Given the description of an element on the screen output the (x, y) to click on. 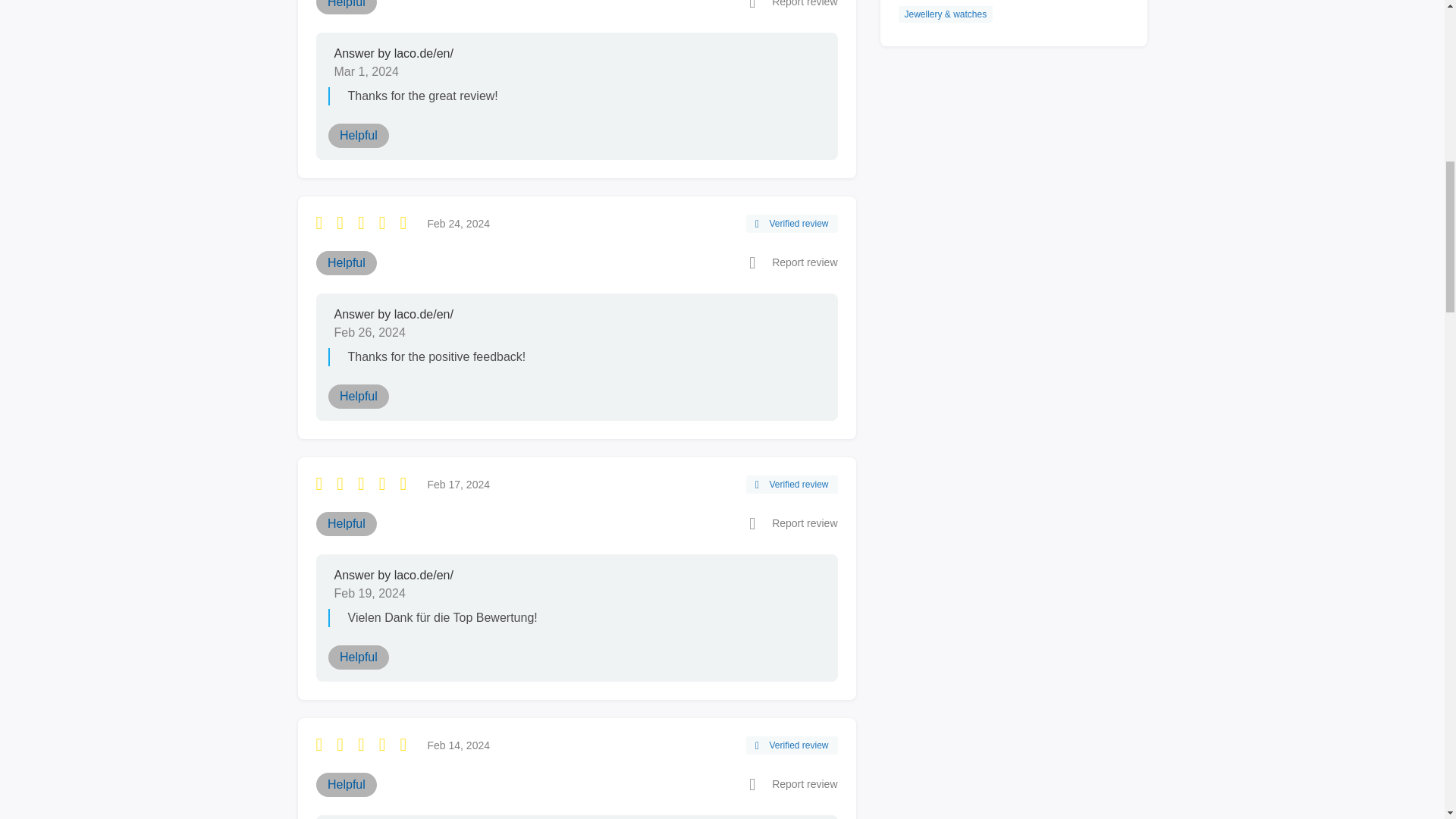
Helpful (357, 396)
Helpful (346, 262)
Helpful (346, 523)
Helpful (346, 784)
Helpful (357, 135)
Helpful (346, 7)
Helpful (357, 657)
